Given the description of an element on the screen output the (x, y) to click on. 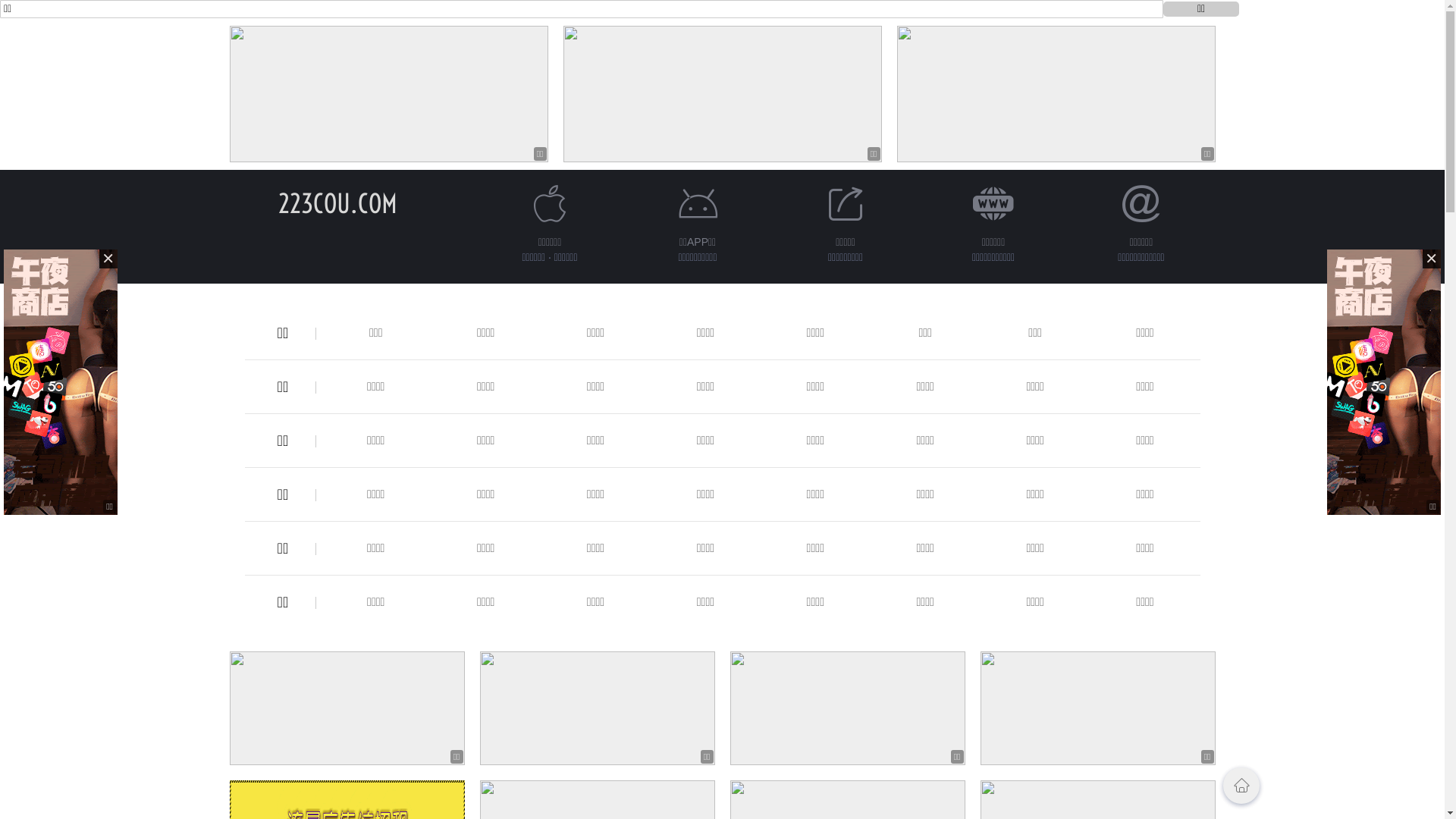
223COU.COM Element type: text (337, 203)
